Given the description of an element on the screen output the (x, y) to click on. 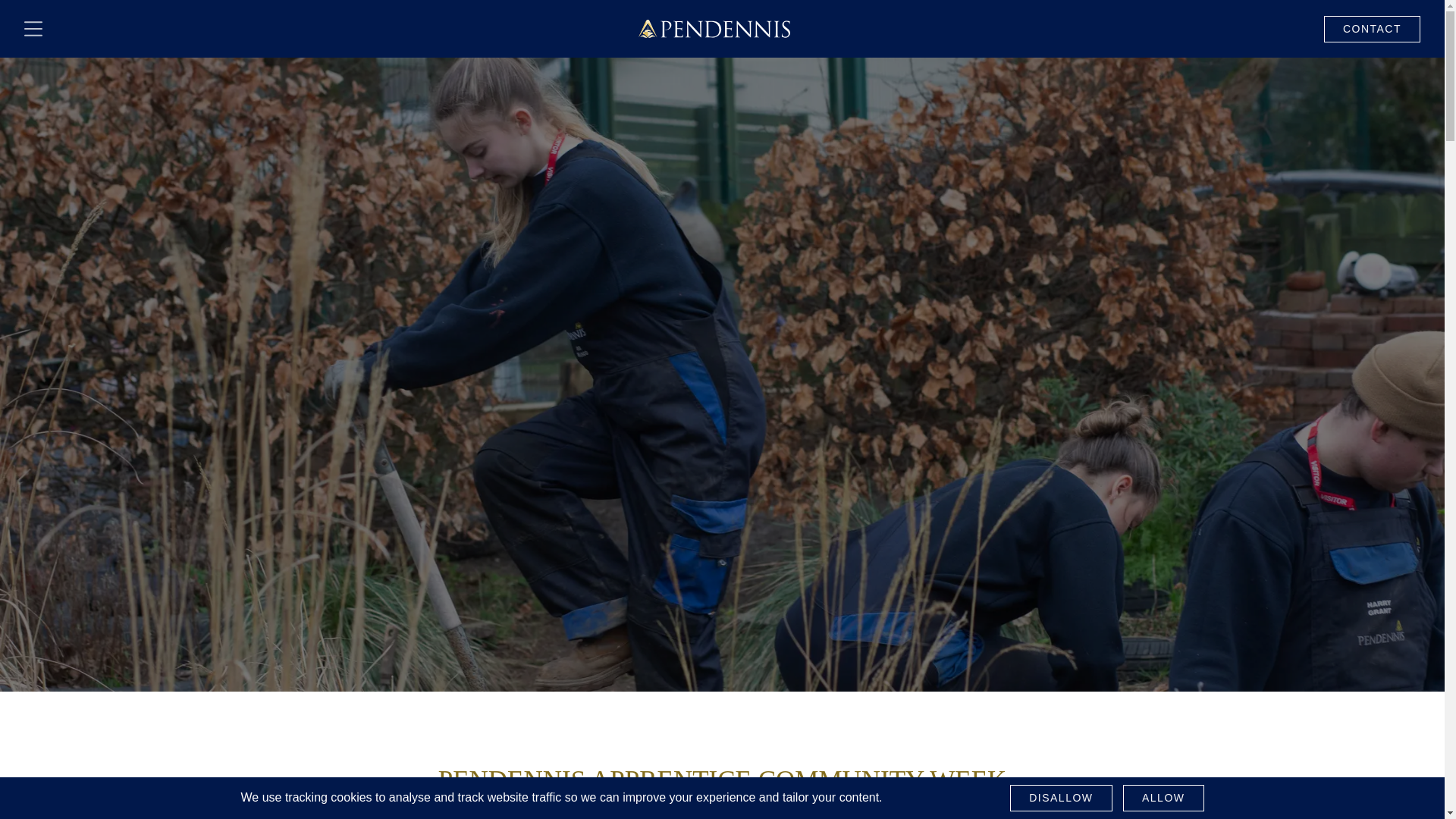
ALLOW (1163, 797)
DISALLOW (1061, 797)
Skip to main content (18, 14)
CONTACT (1372, 28)
Pendennis (714, 28)
